Given the description of an element on the screen output the (x, y) to click on. 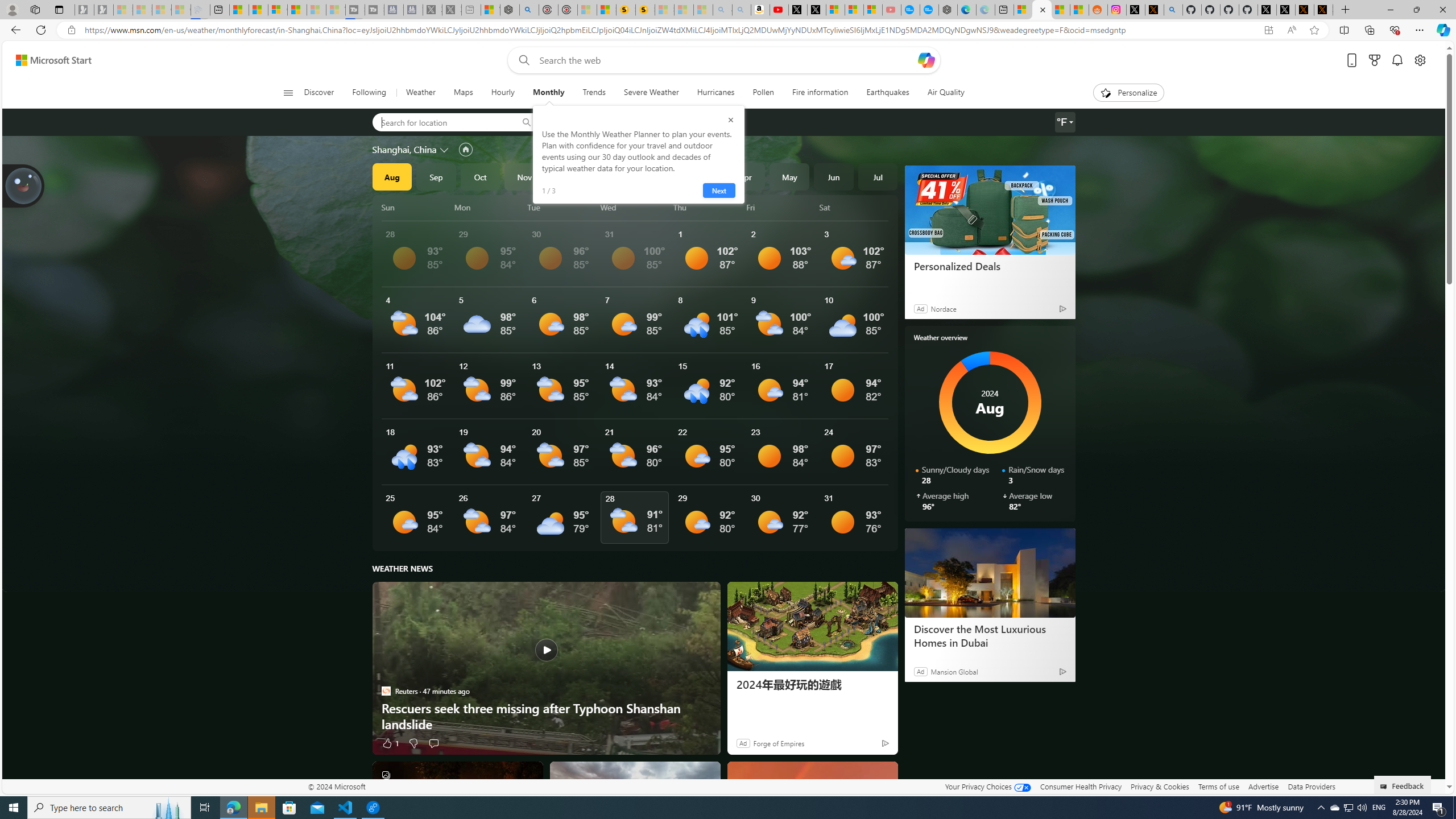
Skip to content (49, 59)
Mar (700, 176)
Mon (489, 207)
Severe Weather (651, 92)
Pollen (763, 92)
